Given the description of an element on the screen output the (x, y) to click on. 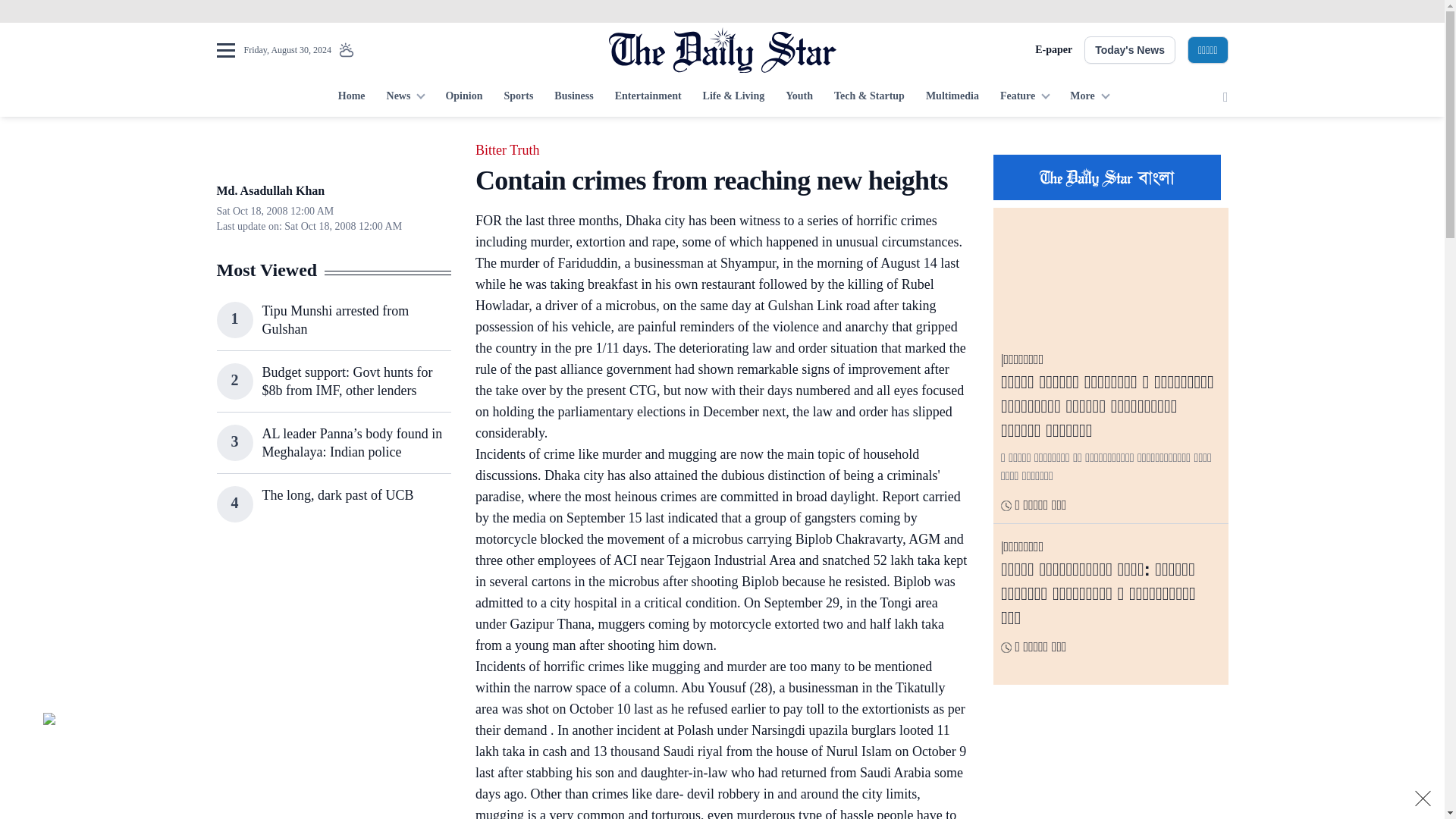
Home (351, 96)
News (405, 96)
E-paper (1053, 49)
Multimedia (952, 96)
Opinion (463, 96)
Business (573, 96)
Sports (518, 96)
Entertainment (647, 96)
Youth (799, 96)
Feature (1024, 96)
